Given the description of an element on the screen output the (x, y) to click on. 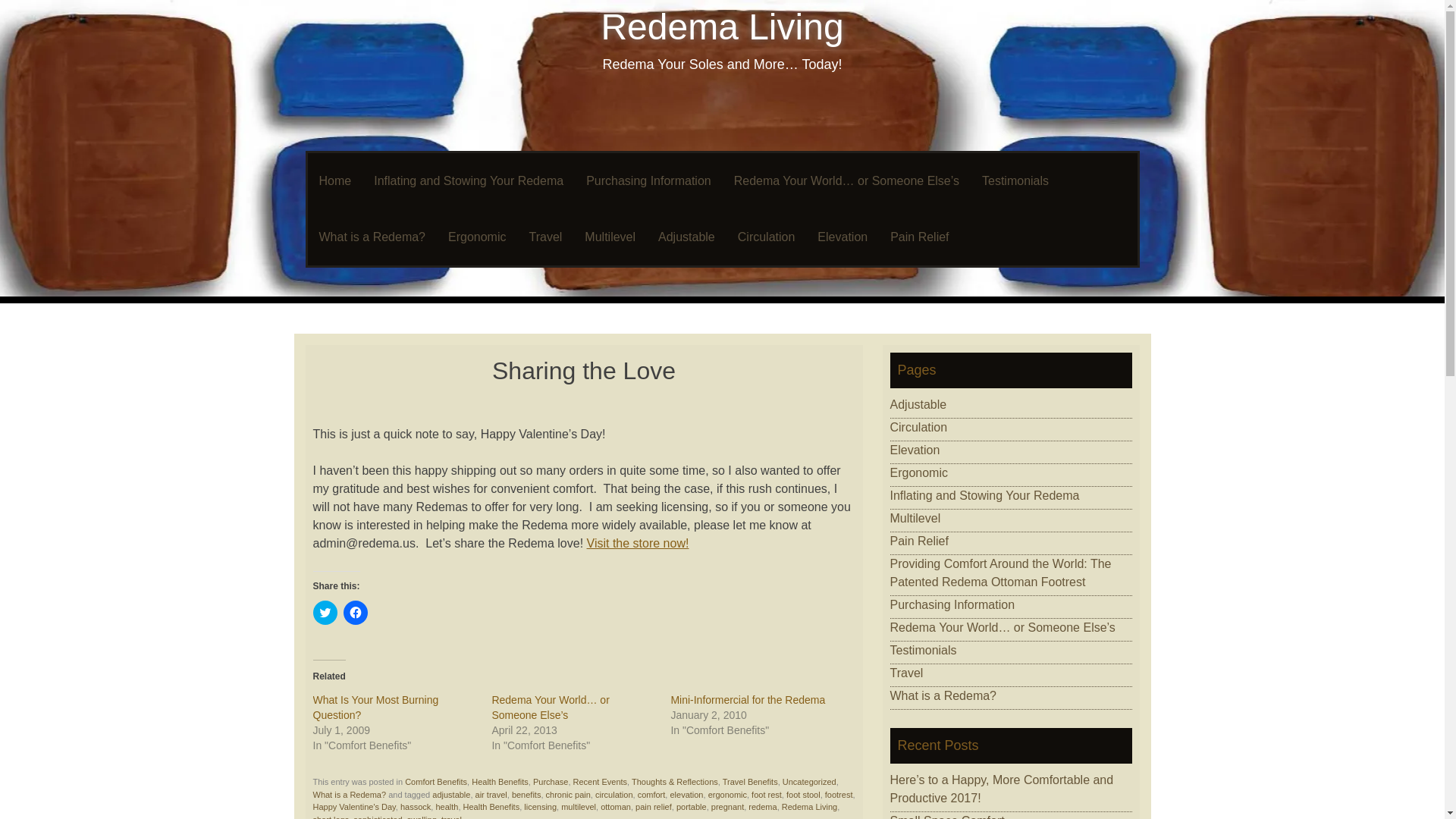
What Is Your Most Burning Question? (375, 707)
What is a Redema? (349, 794)
Travel (544, 237)
benefits (526, 794)
Travel Benefits (749, 781)
Redema Living (721, 26)
Mini-Informercial for the Redema (747, 699)
What Is Your Most Burning Question? (375, 707)
Multilevel (609, 237)
Elevation (842, 237)
